Given the description of an element on the screen output the (x, y) to click on. 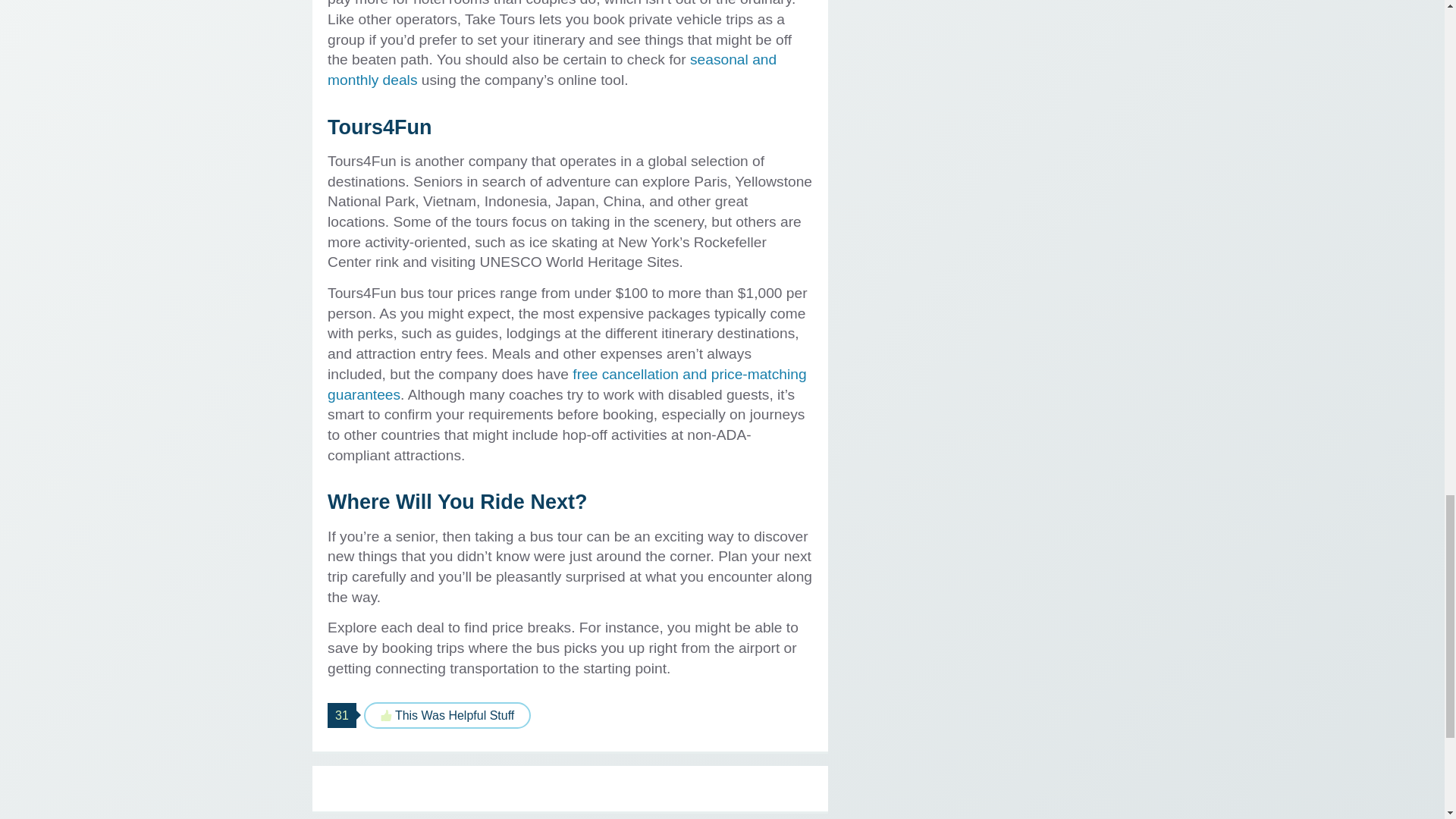
seasonal and monthly deals (551, 69)
free cancellation and price-matching guarantees (566, 384)
